Given the description of an element on the screen output the (x, y) to click on. 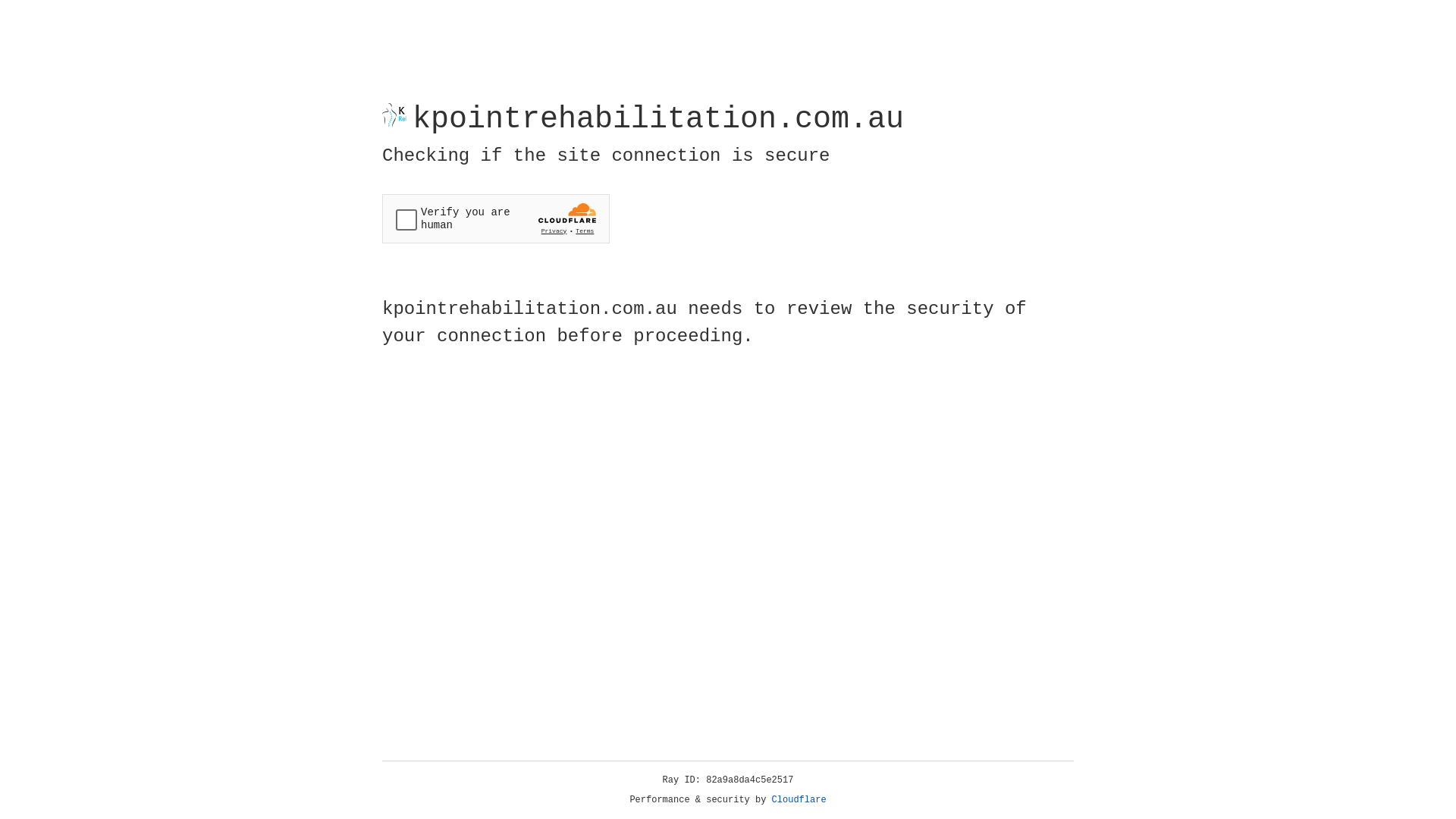
Widget containing a Cloudflare security challenge Element type: hover (495, 218)
Cloudflare Element type: text (798, 799)
